Given the description of an element on the screen output the (x, y) to click on. 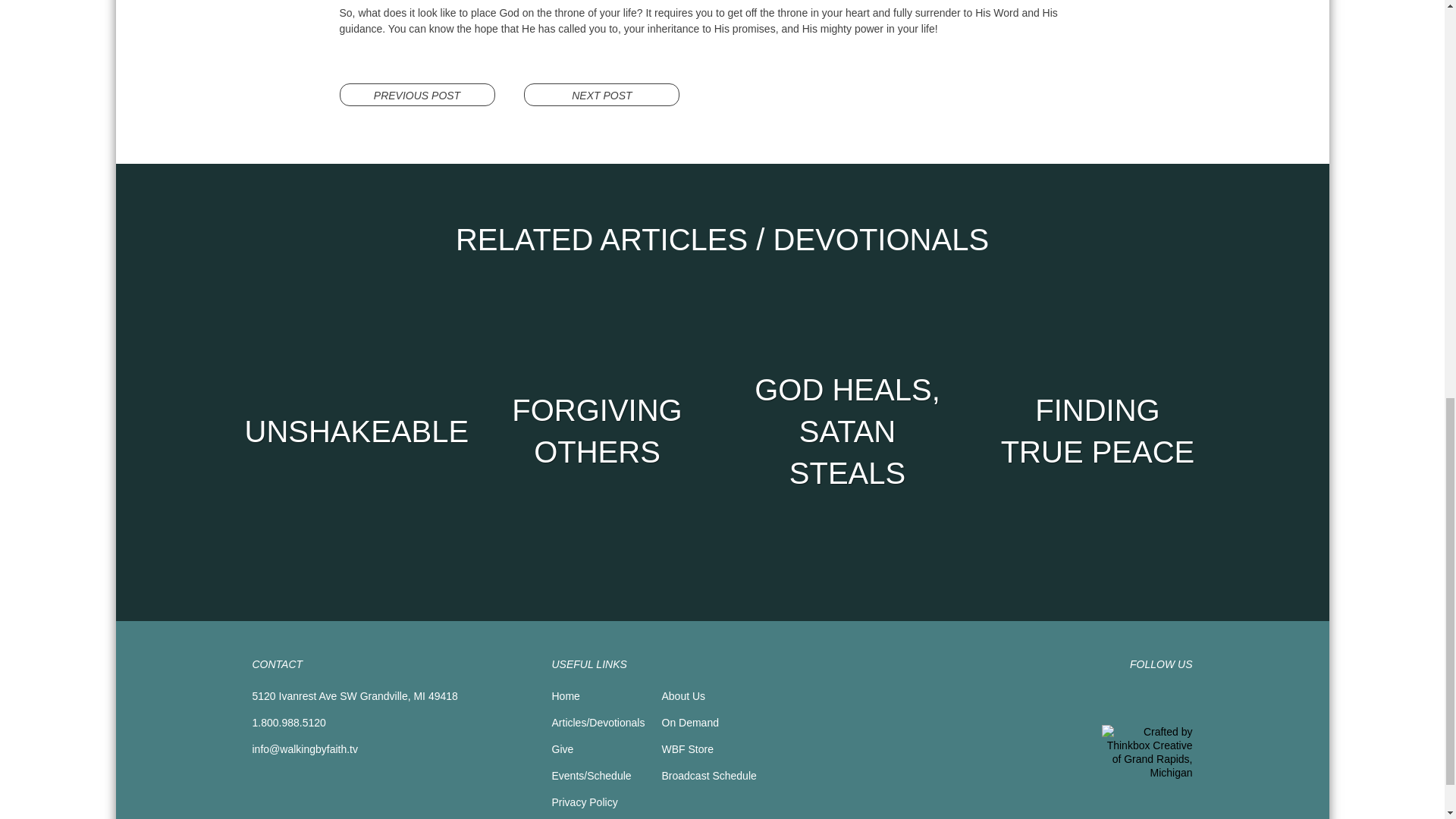
About Us (682, 695)
PREVIOUS POST (417, 94)
5120 Ivanrest Ave SW Grandville, MI 49418 (354, 695)
On Demand (689, 722)
UNSHAKEABLE (346, 431)
FINDING TRUE PEACE (1097, 431)
GOD HEALS, SATAN STEALS (846, 431)
Walking By Faith Instagram (1181, 699)
WBF Store (687, 748)
NEXT POST (601, 94)
Home (565, 695)
Broadcast Schedule (708, 775)
FORGIVING OTHERS (597, 431)
Give (562, 748)
1.800.988.5120 (287, 722)
